Given the description of an element on the screen output the (x, y) to click on. 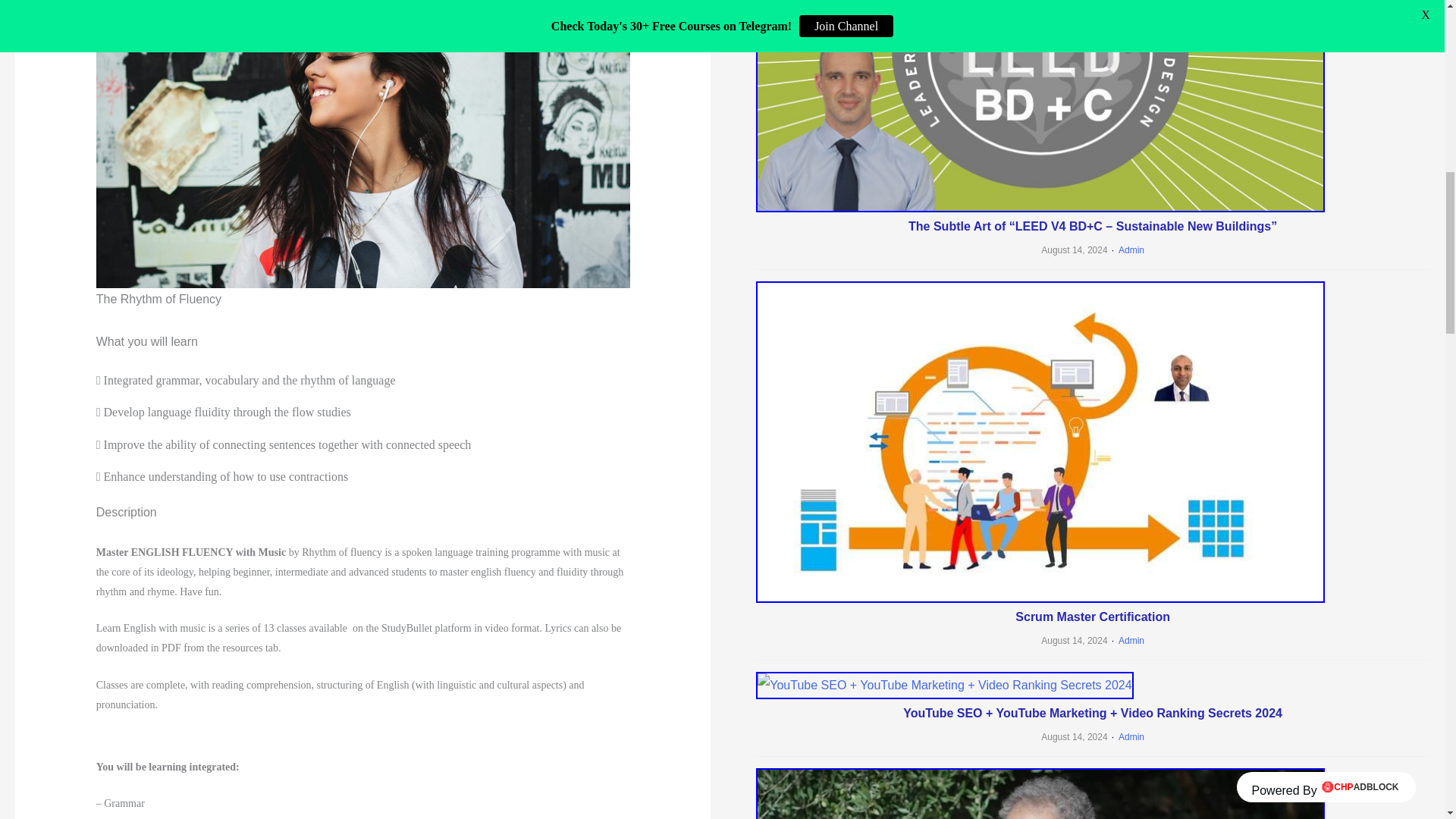
Admin (1126, 249)
Admin (1126, 737)
Scrum Master Certification (1092, 616)
Admin (1126, 640)
